Given the description of an element on the screen output the (x, y) to click on. 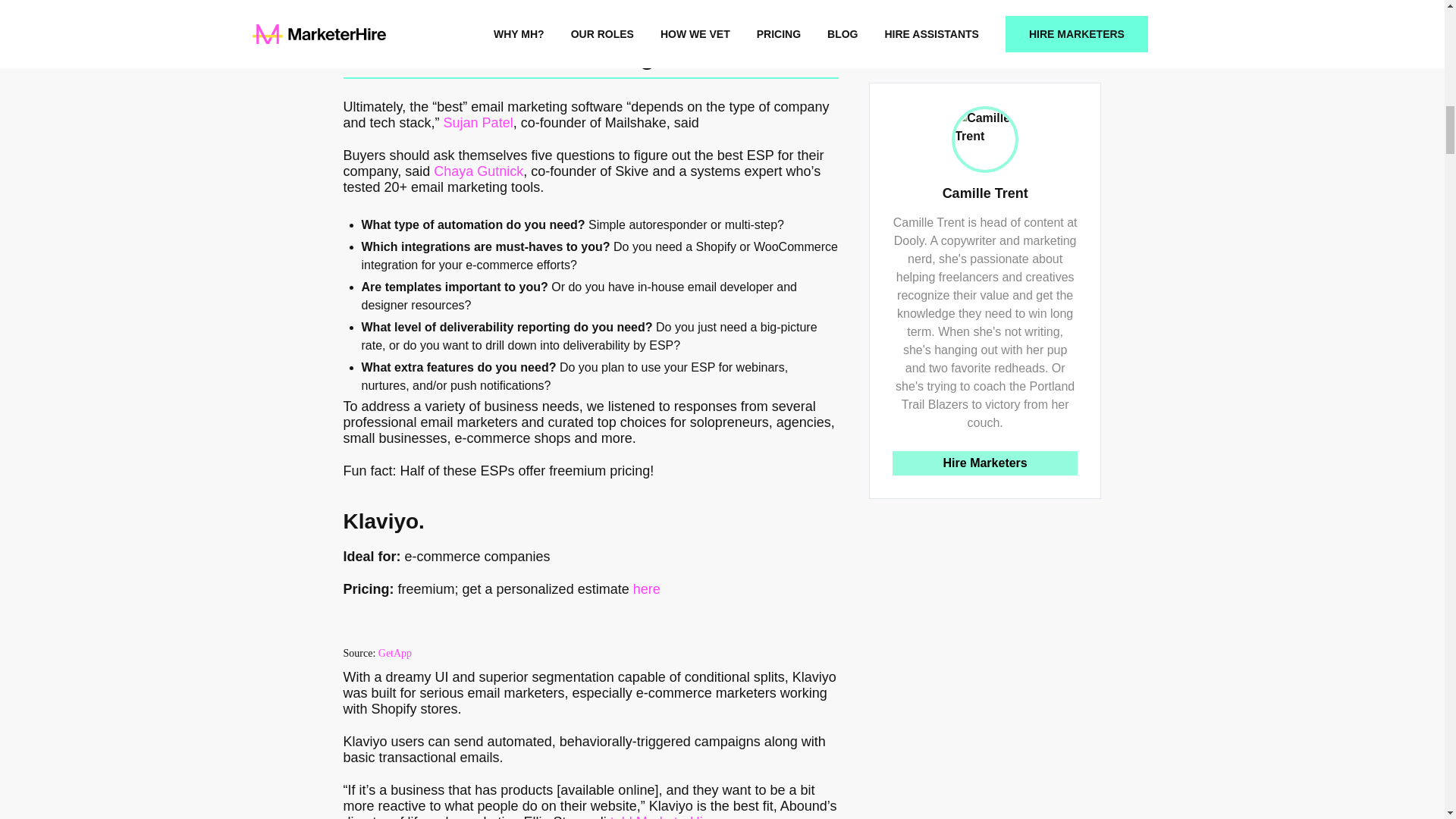
here (647, 589)
Sujan Patel (478, 122)
GetApp (395, 653)
Chaya Gutnick (477, 171)
